Given the description of an element on the screen output the (x, y) to click on. 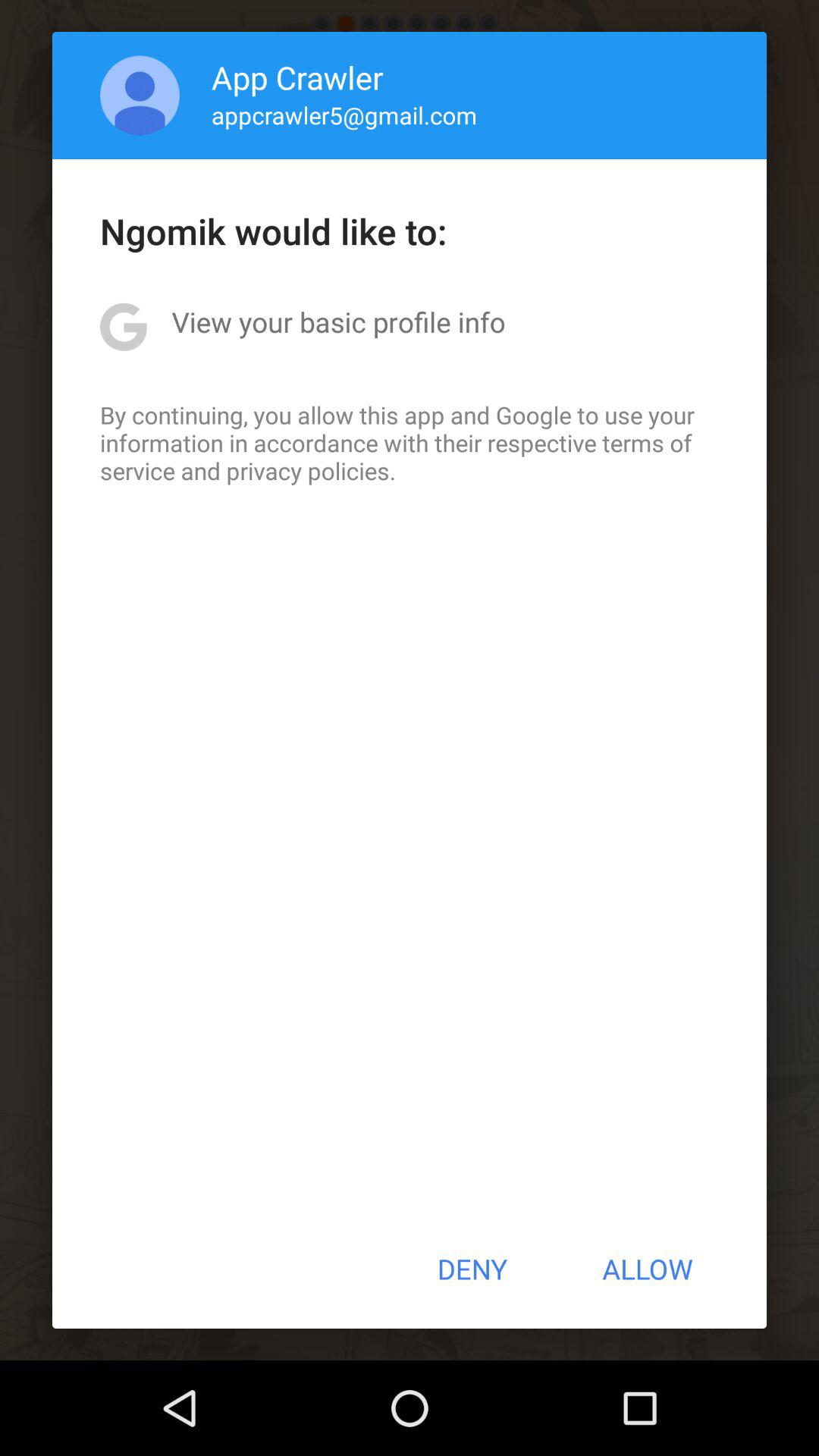
flip to the deny icon (471, 1268)
